Given the description of an element on the screen output the (x, y) to click on. 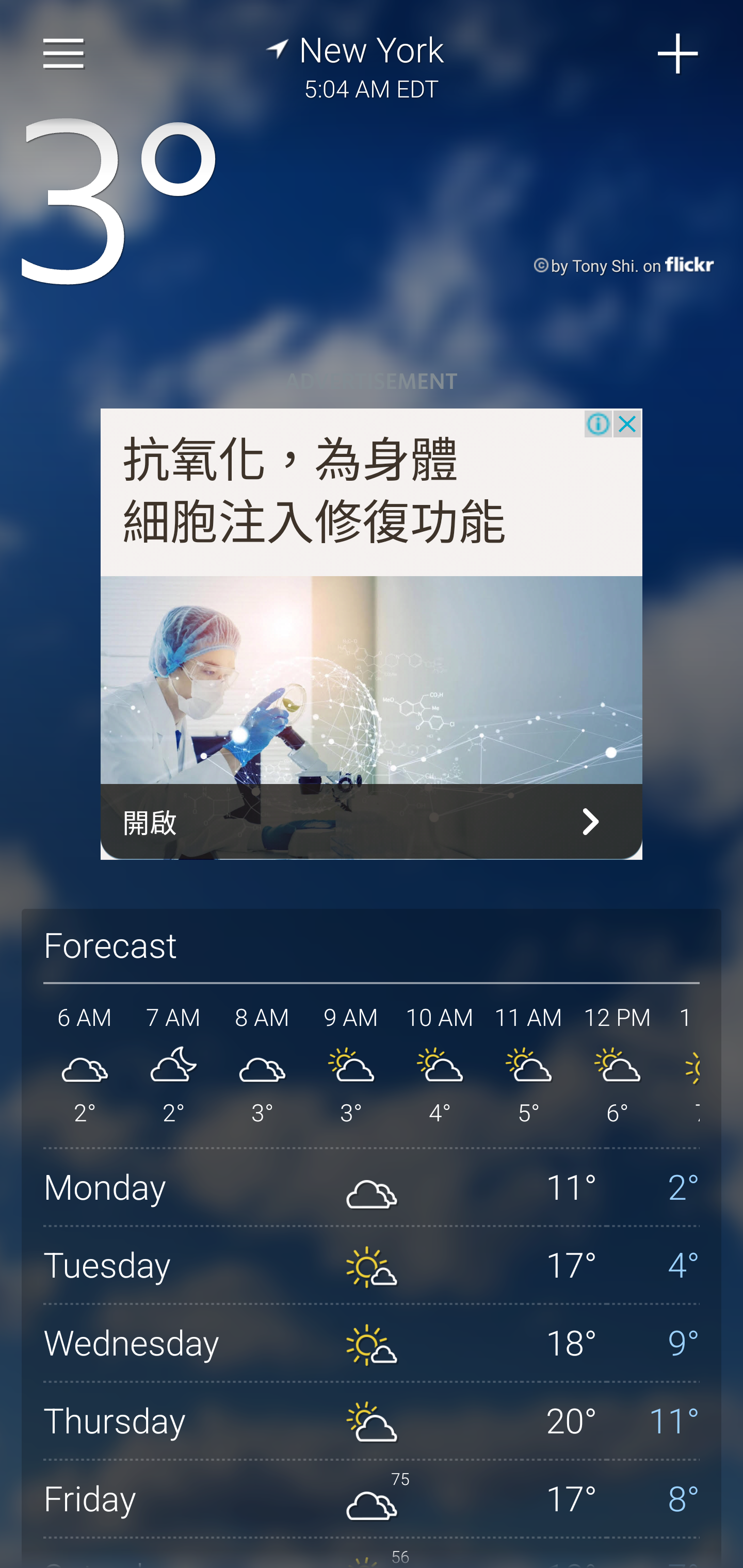
Sidebar (64, 54)
Add City (678, 53)
抗氧化，為身體 細胞注入修復功能 抗氧化，為身體 
 細胞注入修復功能 (314, 492)
開啟 (371, 821)
